Given the description of an element on the screen output the (x, y) to click on. 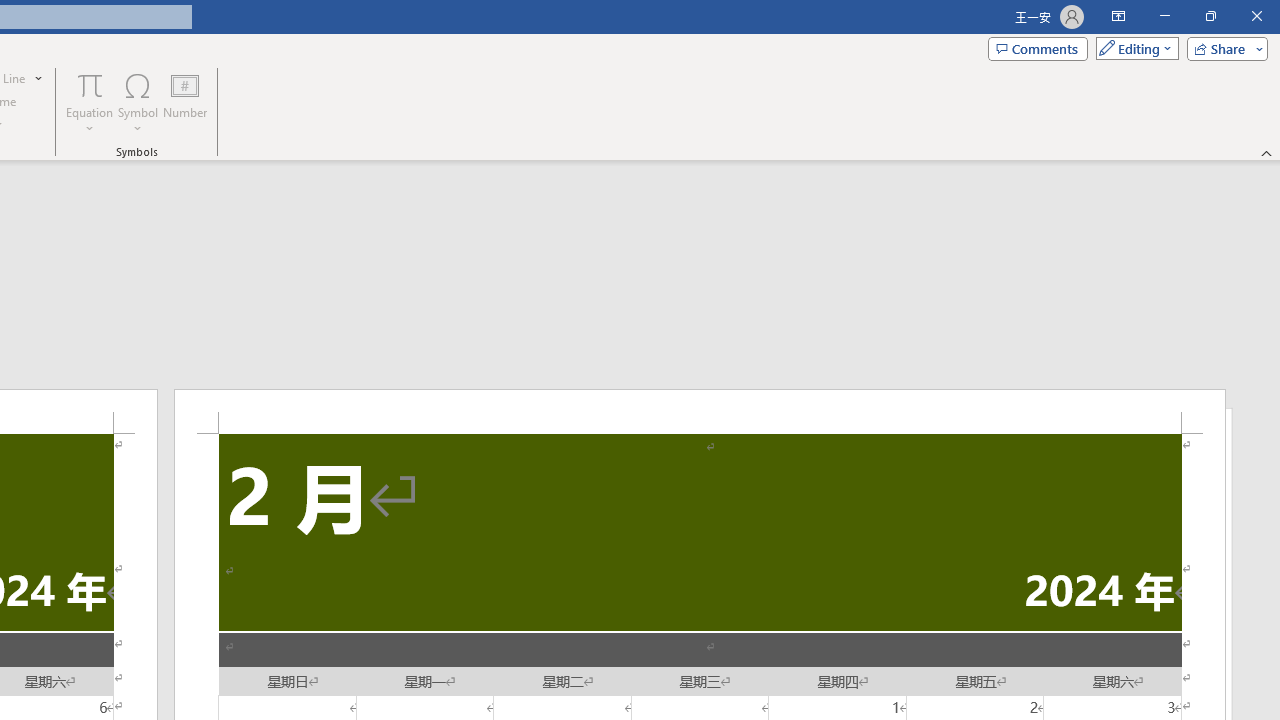
Number... (185, 102)
